Given the description of an element on the screen output the (x, y) to click on. 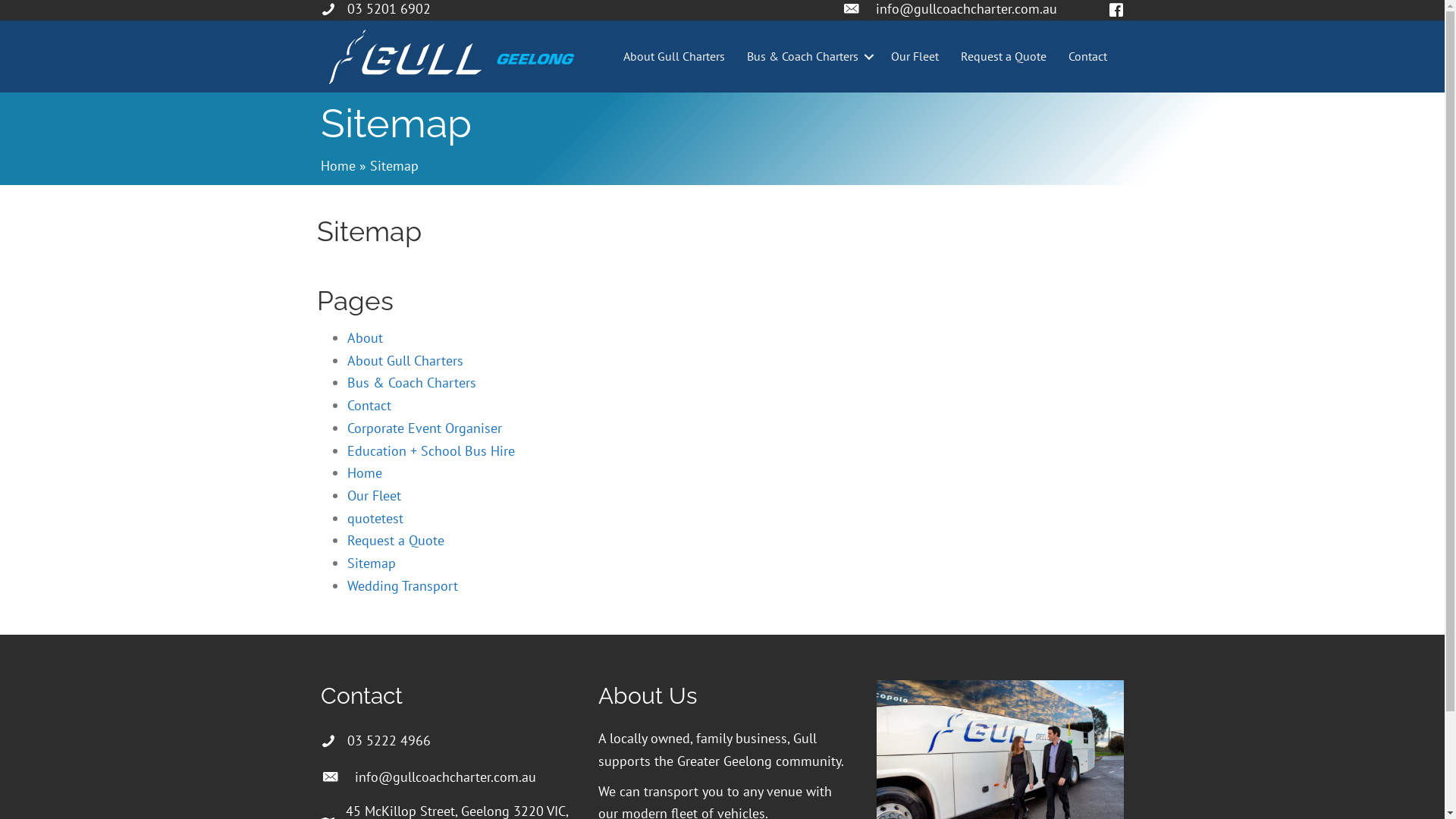
info@gullcoachcharter.com.au Element type: text (445, 776)
  Element type: text (352, 776)
info@gullcoachcharter.com.au Element type: text (966, 8)
03 5222 4966 Element type: text (388, 740)
Sitemap Element type: text (371, 562)
03 5201 6902 Element type: text (388, 8)
Corporate Event Organiser Element type: text (424, 427)
Home Element type: text (337, 165)
Bus & Coach Charters Element type: text (806, 55)
Our Fleet Element type: text (374, 495)
Gull Airport Geelong White Element type: hover (451, 56)
About Element type: text (364, 337)
Our Fleet Element type: text (913, 55)
Wedding Transport Element type: text (402, 585)
Home Element type: text (364, 472)
Bus & Coach Charters Element type: text (411, 382)
Contact Element type: text (369, 405)
quotetest Element type: text (375, 518)
Request a Quote Element type: text (1002, 55)
  Element type: text (873, 8)
Education + School Bus Hire Element type: text (430, 450)
About Gull Charters Element type: text (673, 55)
About Gull Charters Element type: text (405, 360)
Request a Quote Element type: text (395, 540)
Contact Element type: text (1087, 55)
